Given the description of an element on the screen output the (x, y) to click on. 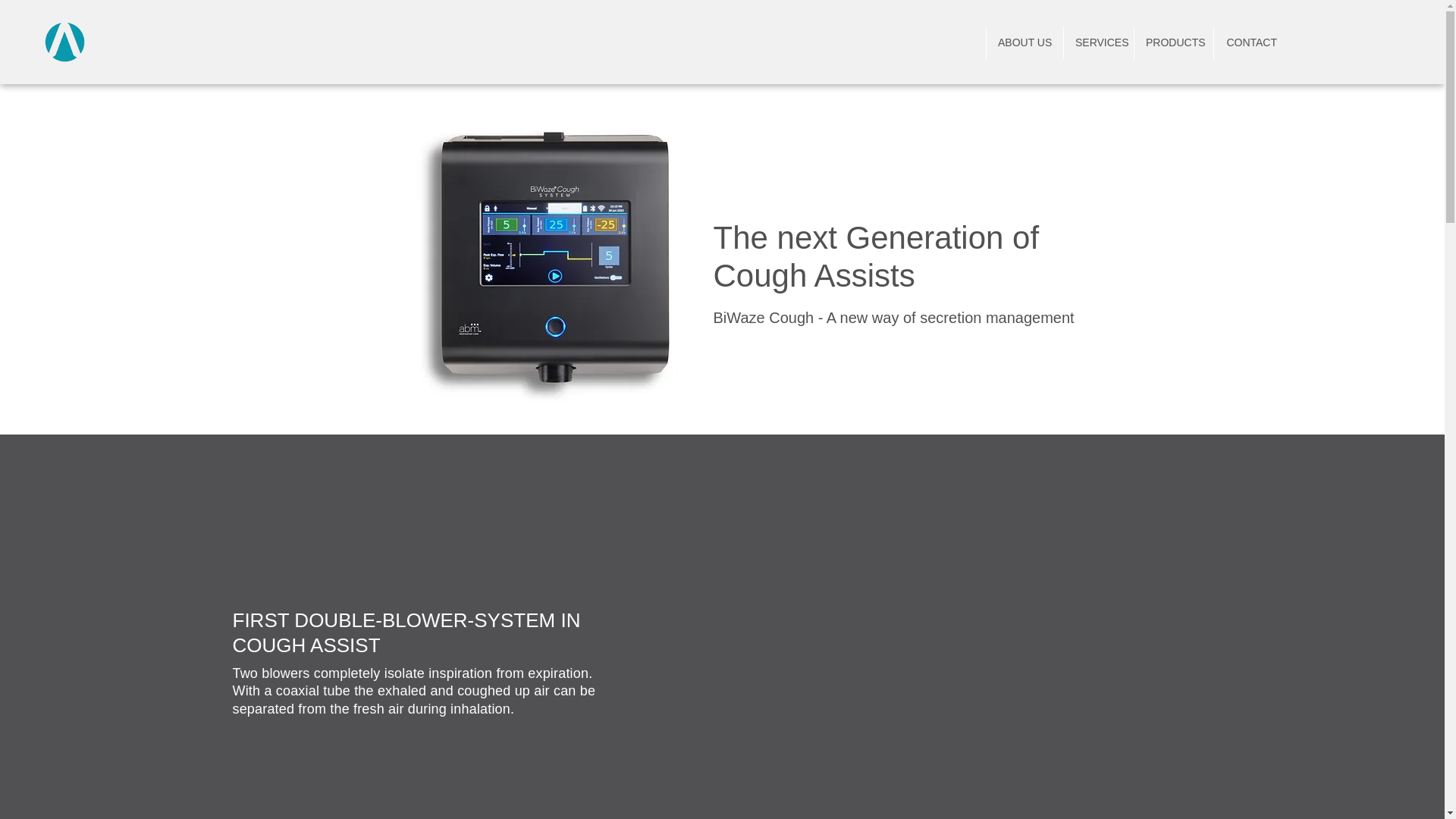
SERVICES (1098, 42)
ABOUT US (1023, 42)
CONTACT (1250, 42)
PRODUCTS (1173, 42)
